Given the description of an element on the screen output the (x, y) to click on. 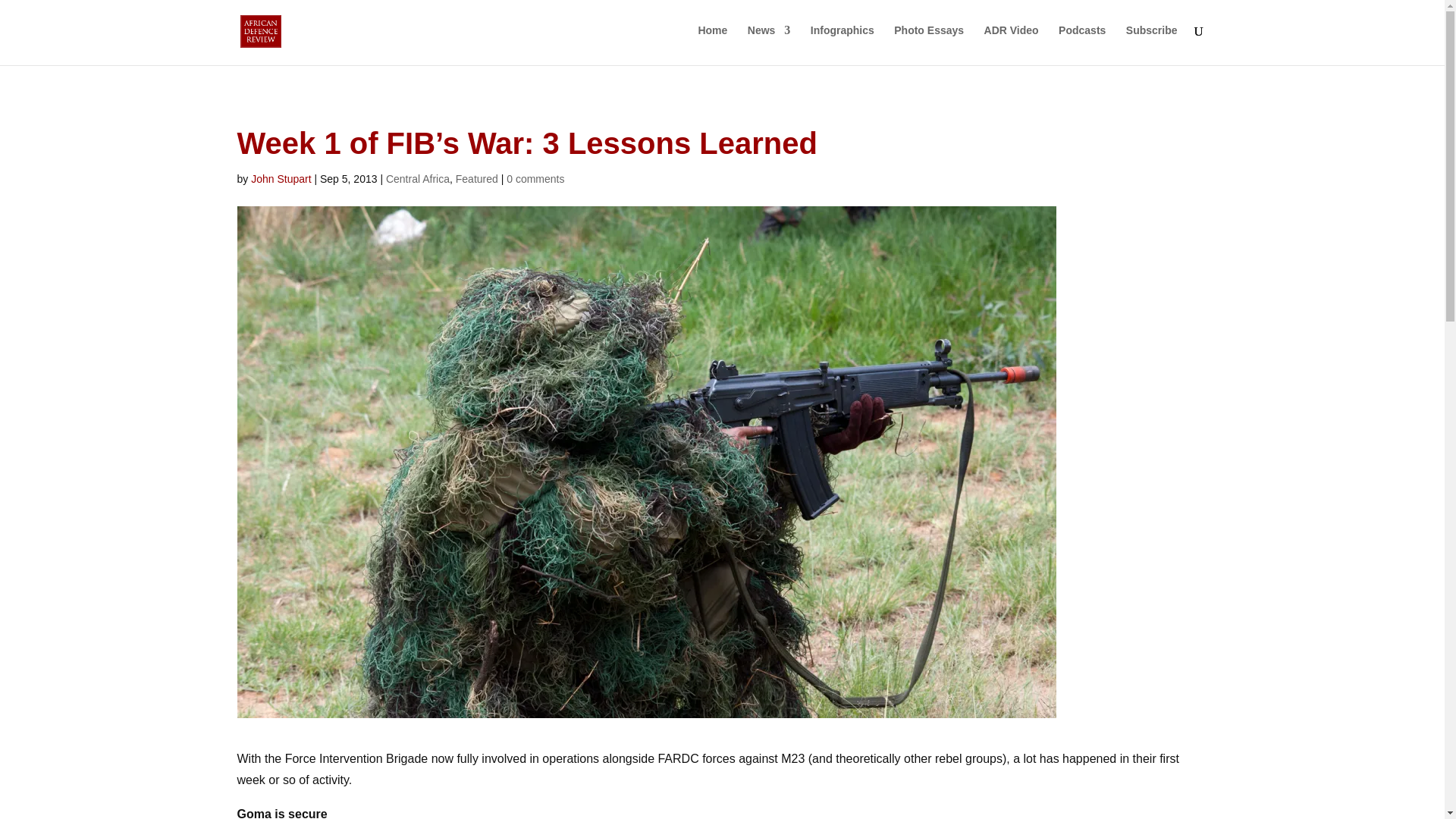
Infographics (842, 42)
Photo Essays (928, 42)
Subscribe (1151, 42)
Central Africa (417, 178)
John Stupart (280, 178)
0 comments (535, 178)
Posts by John Stupart (280, 178)
Featured (476, 178)
ADR Video (1011, 42)
News (769, 42)
